Given the description of an element on the screen output the (x, y) to click on. 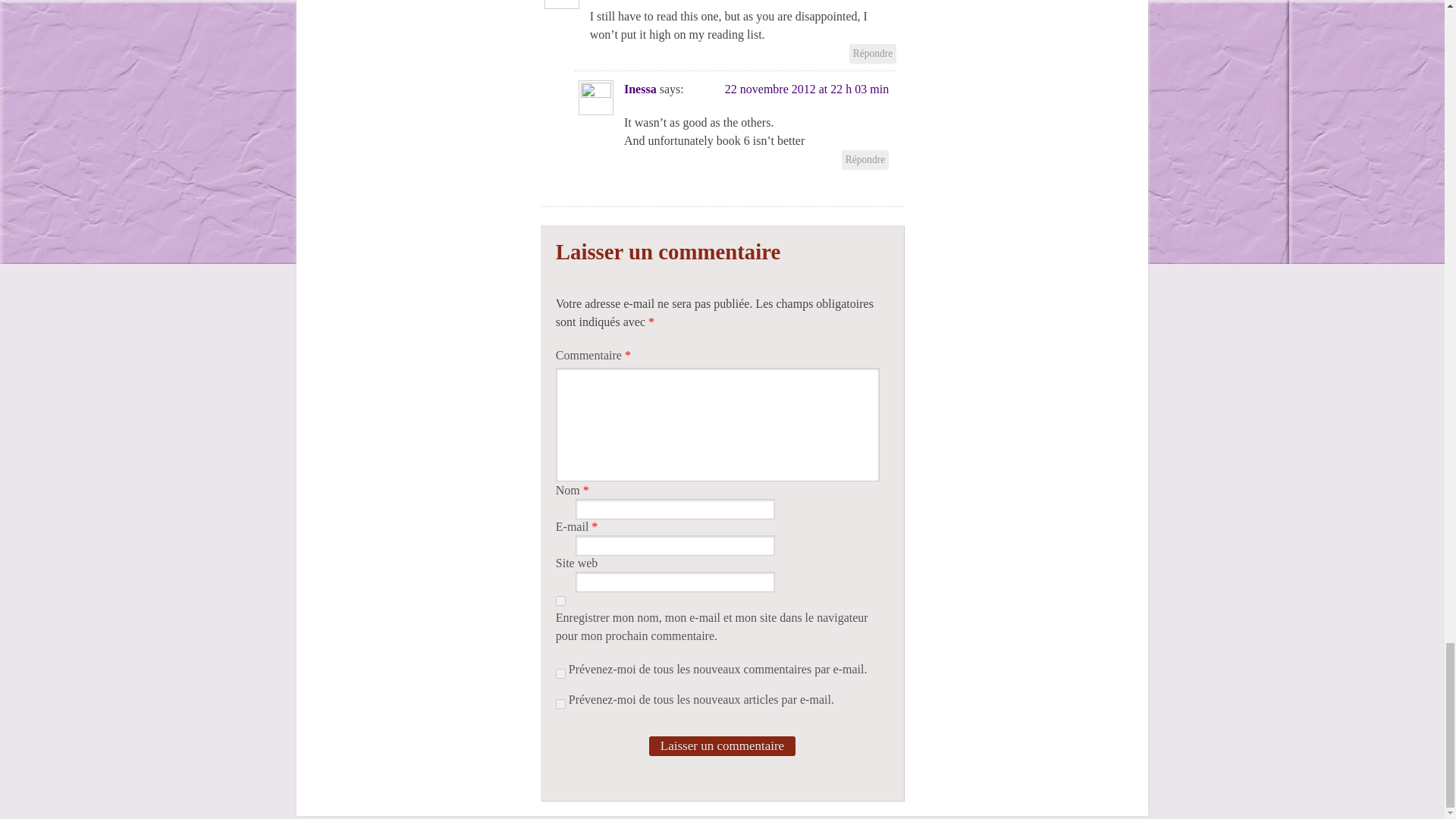
Laisser un commentaire (721, 745)
subscribe (561, 673)
subscribe (561, 704)
yes (561, 601)
